Given the description of an element on the screen output the (x, y) to click on. 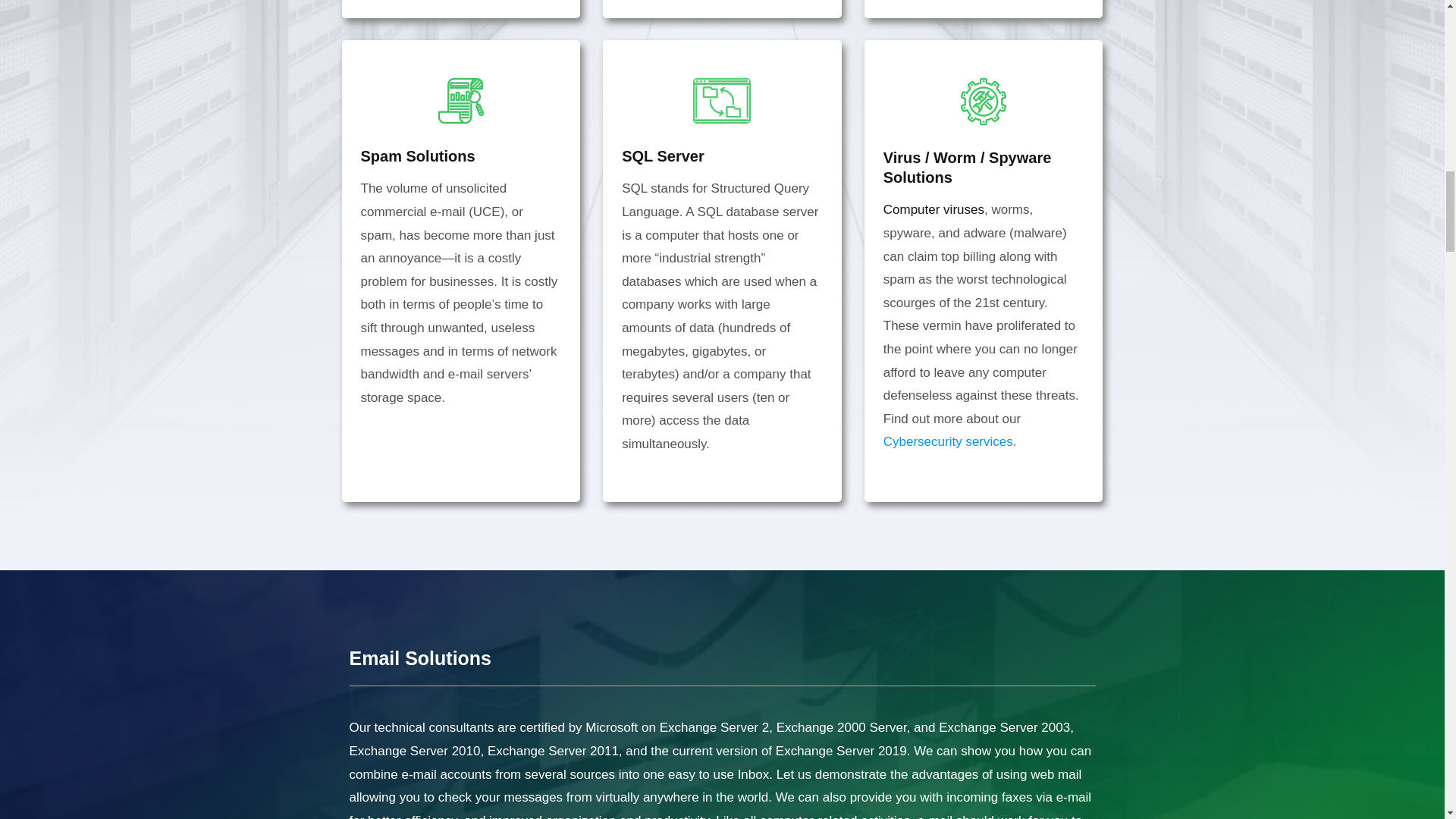
SQL Server (662, 156)
Cybersecurity services (948, 441)
Spam Solutions (418, 156)
Computer viruses (933, 209)
Computer Virus (933, 209)
